Given the description of an element on the screen output the (x, y) to click on. 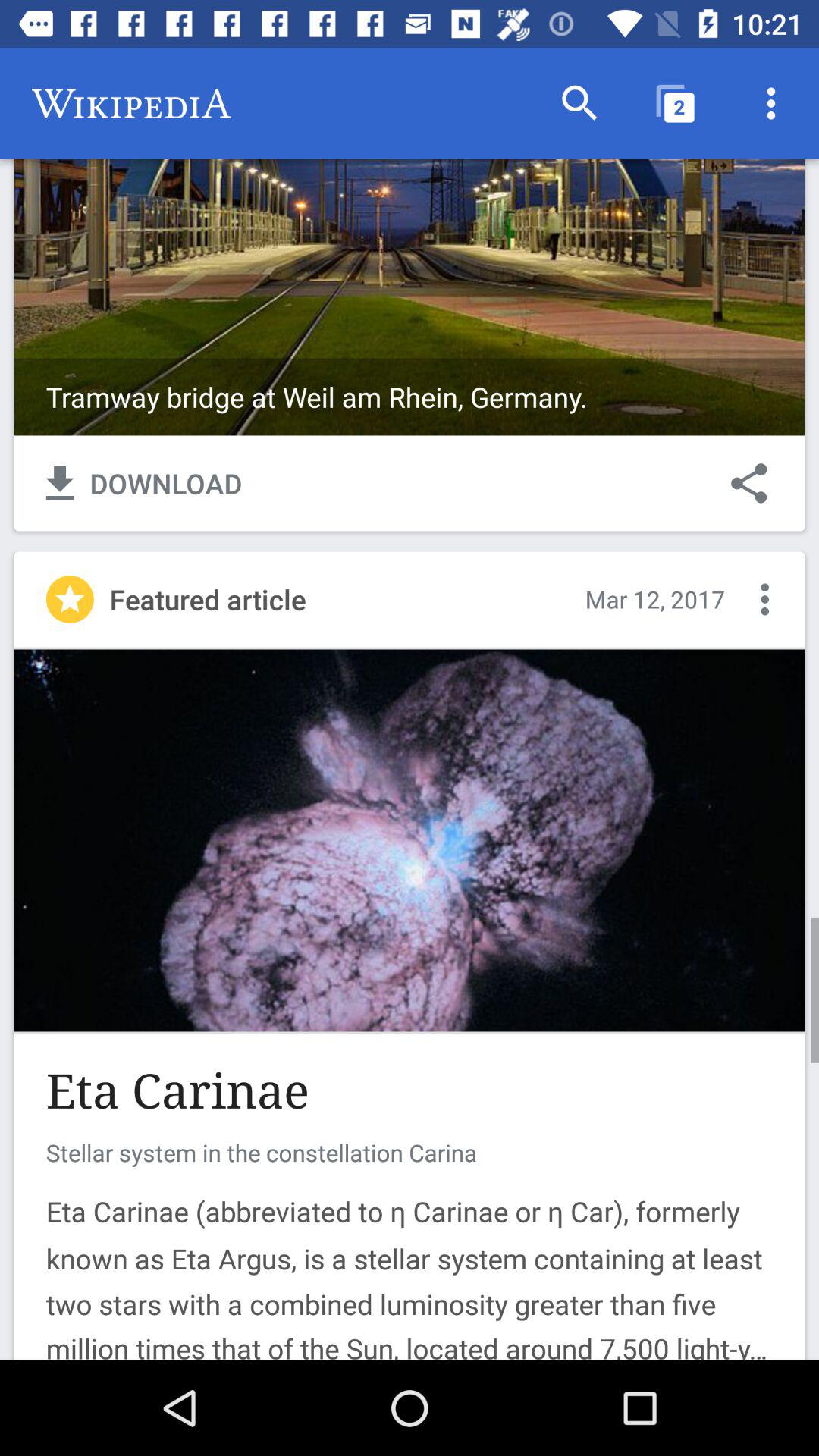
open the icon to the right of download item (748, 483)
